Given the description of an element on the screen output the (x, y) to click on. 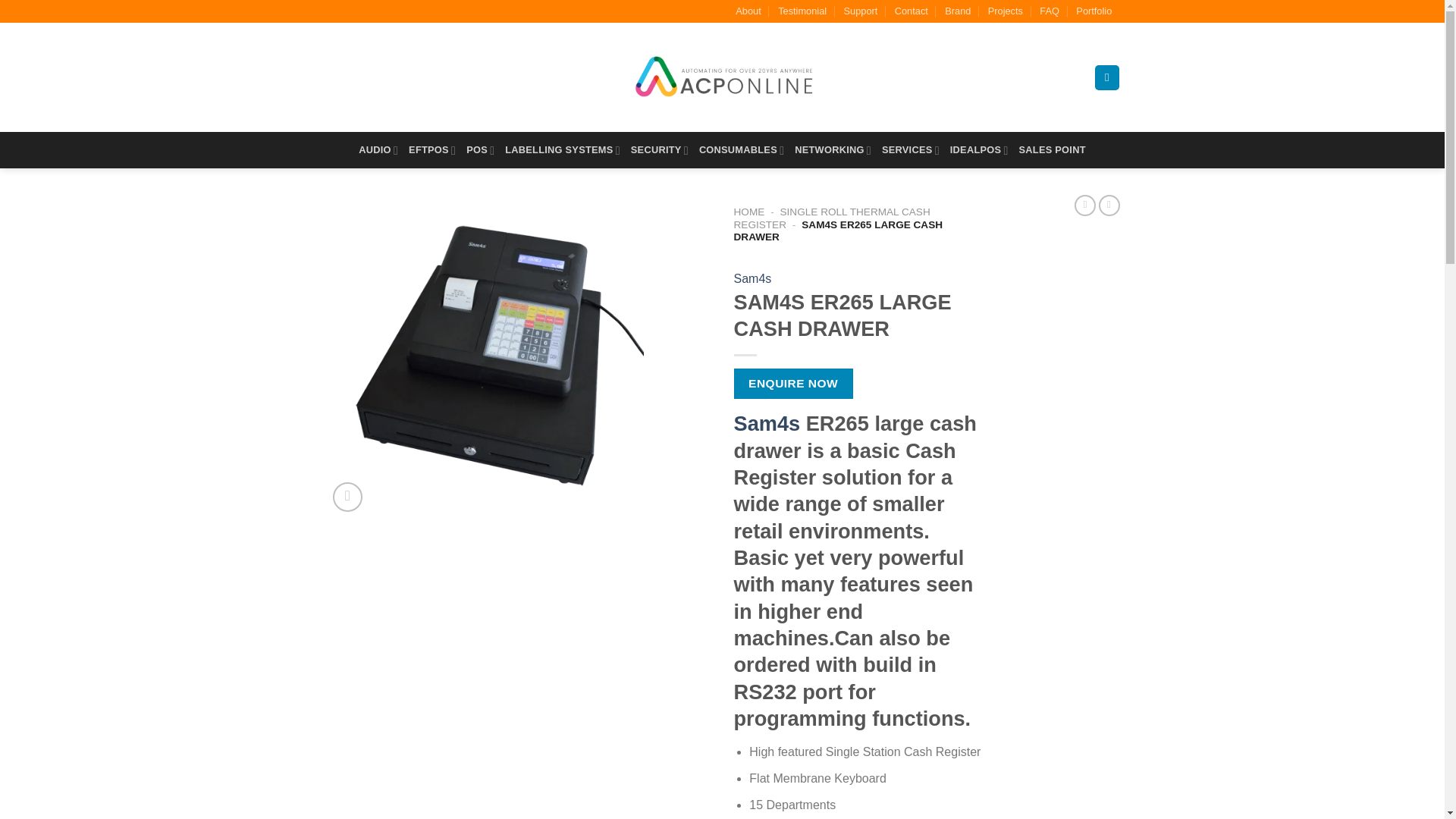
Zoom (347, 496)
View brand (752, 279)
Brand (957, 11)
AUDIO (377, 149)
About (747, 11)
Portfolio (1093, 11)
Projects (1005, 11)
Contact (911, 11)
Support (860, 11)
Testimonial (802, 11)
